Given the description of an element on the screen output the (x, y) to click on. 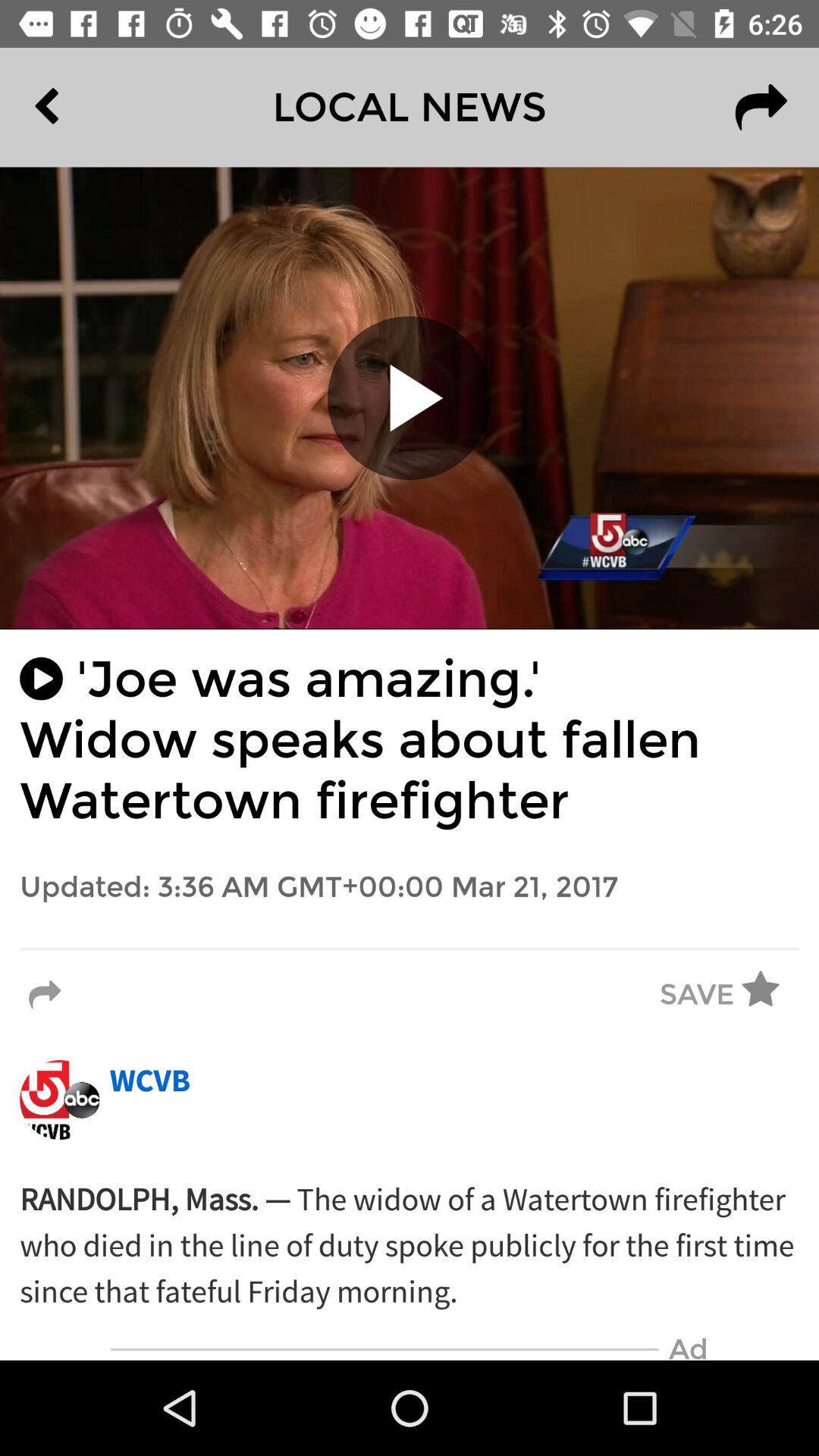
swipe to the save (696, 995)
